Given the description of an element on the screen output the (x, y) to click on. 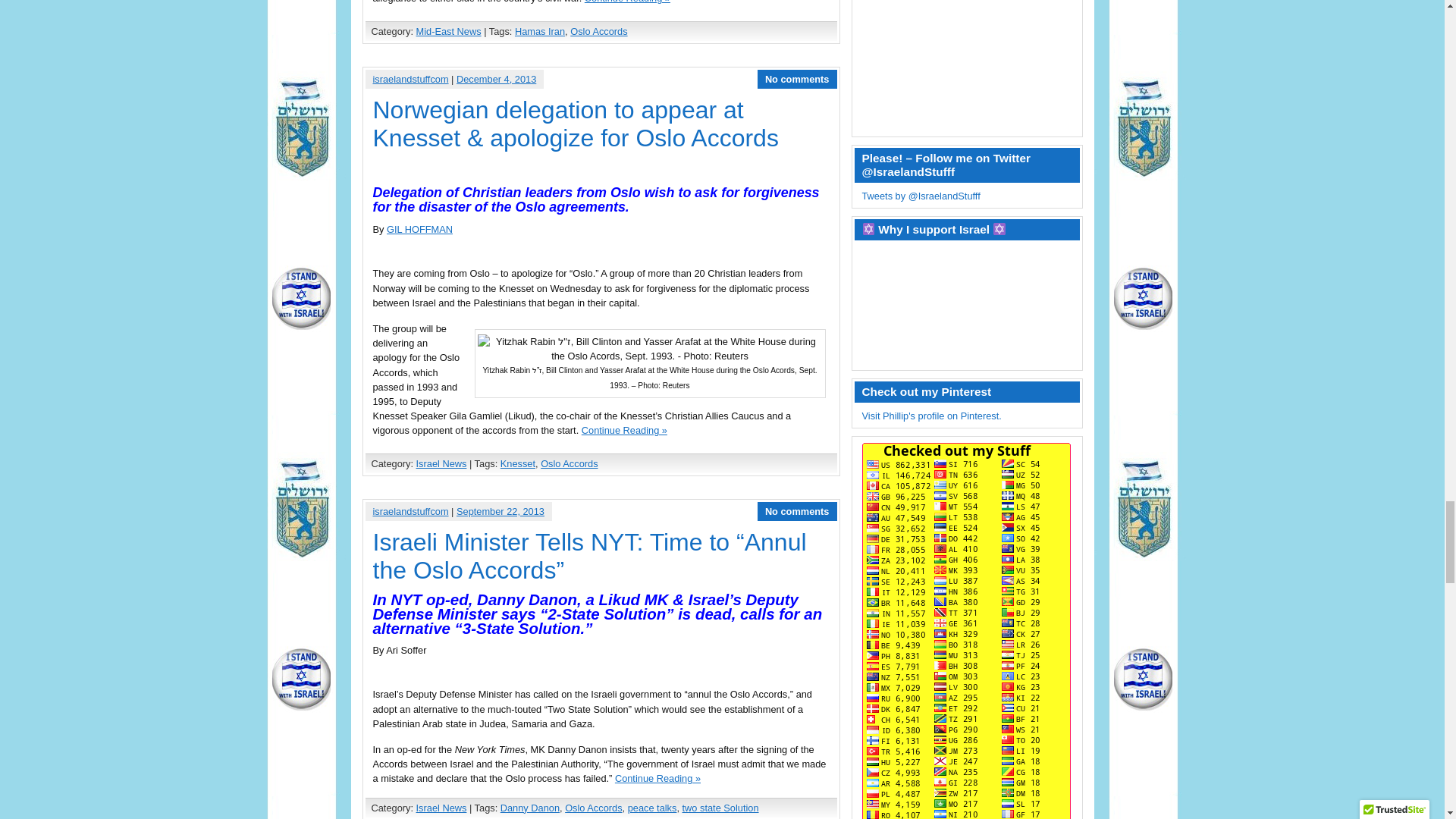
Posts by israelandstuffcom (410, 511)
Posts by israelandstuffcom (410, 79)
